Given the description of an element on the screen output the (x, y) to click on. 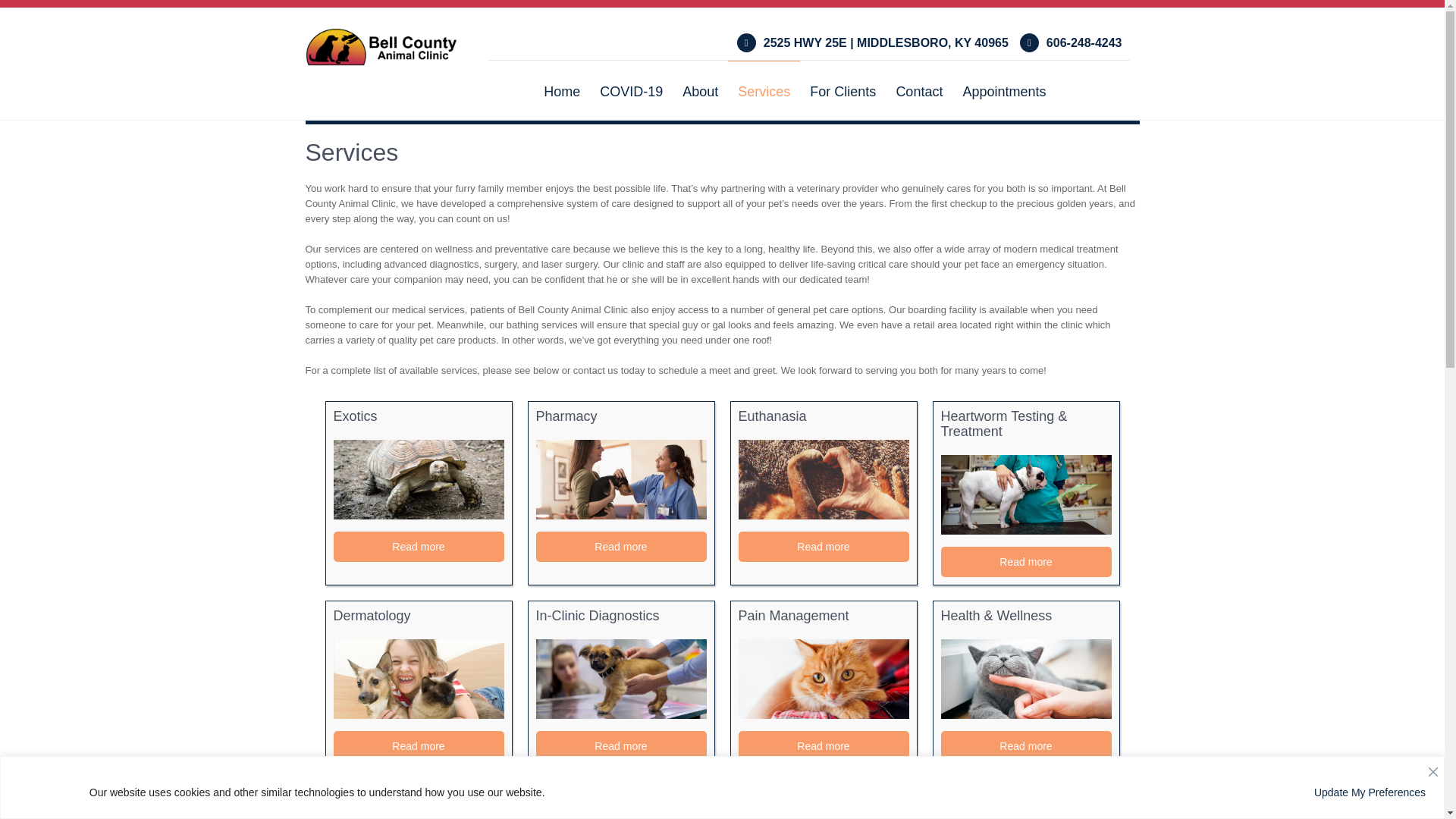
Pharmacy (620, 479)
Pharmacy (620, 424)
Euthanasia (823, 424)
Exotics (418, 479)
Update My Preferences (1369, 791)
About (700, 91)
606-248-4243 (1071, 42)
Pain Management (823, 679)
Read more (620, 546)
Appointments (1003, 91)
Euthanasia (823, 479)
Home (561, 91)
Exotics (418, 424)
COVID-19 (630, 91)
Contact (918, 91)
